Given the description of an element on the screen output the (x, y) to click on. 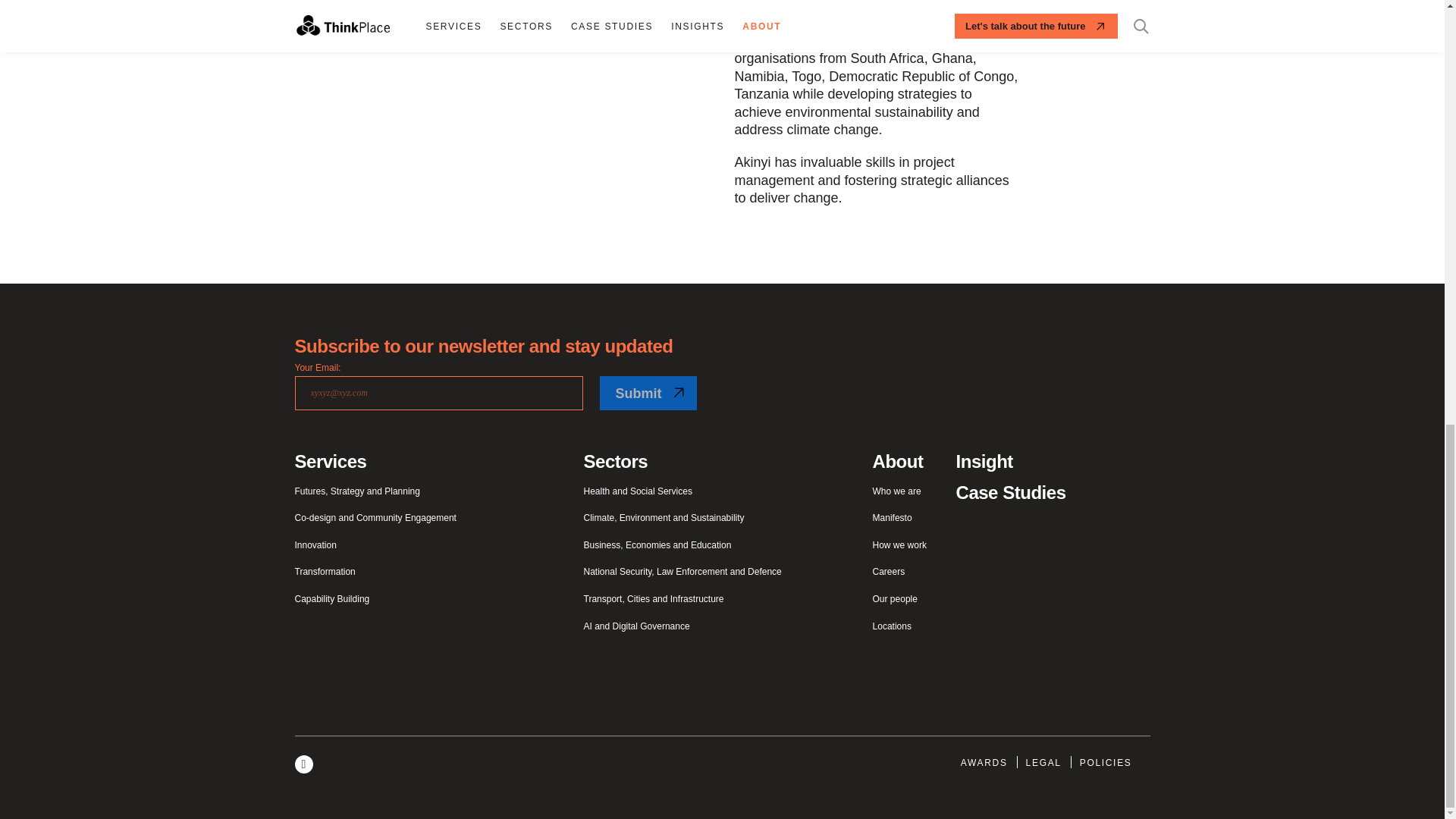
Climate, Environment and Sustainability (663, 518)
Transformation (324, 572)
Capability Building (331, 599)
Futures, Strategy and Planning (356, 491)
Co-design and Community Engagement (374, 518)
Business, Economies and Education (657, 545)
Innovation (315, 545)
Health and Social Services (638, 491)
Submit (646, 392)
